Given the description of an element on the screen output the (x, y) to click on. 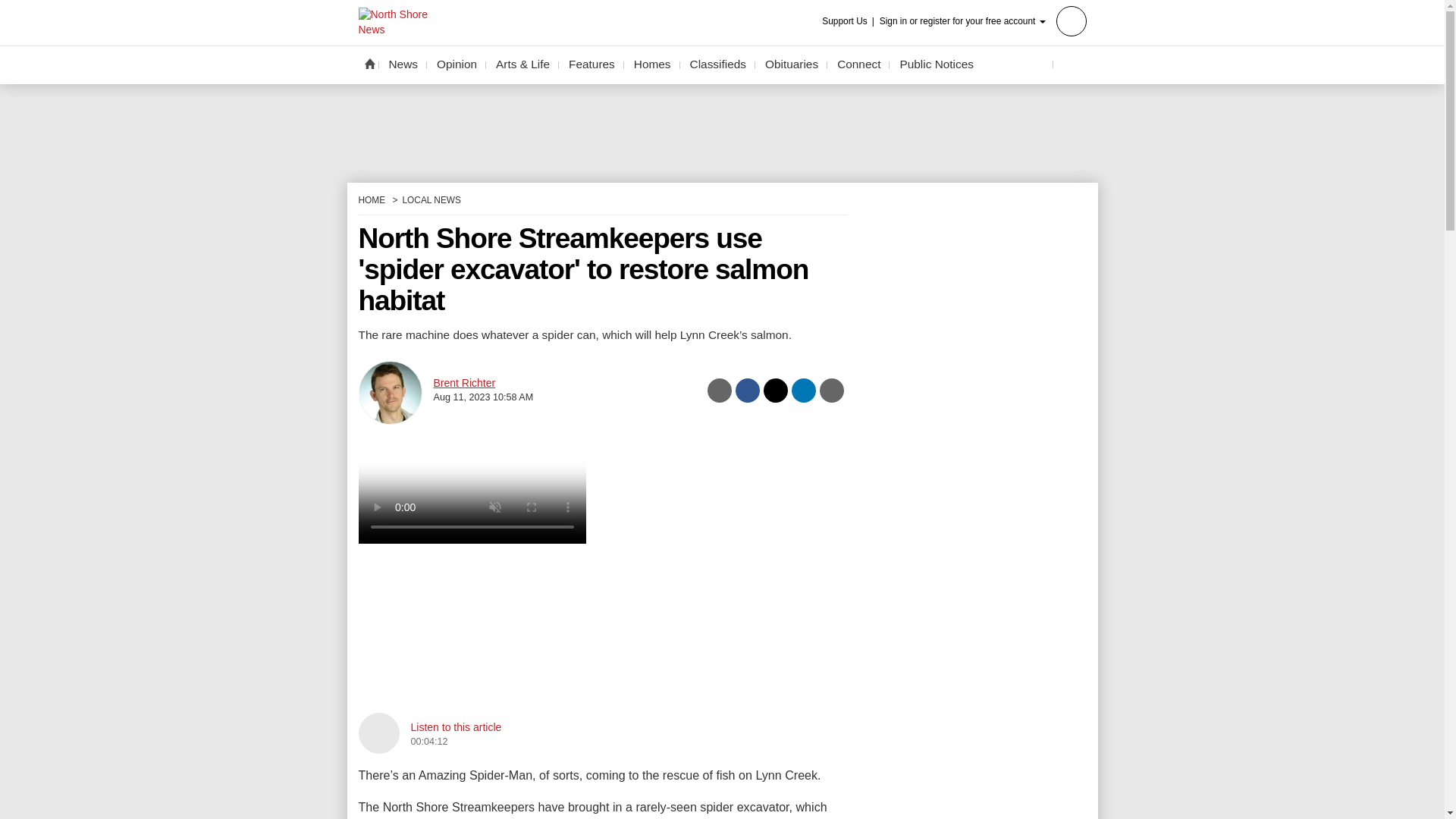
Sign in or register for your free account (982, 20)
Opinion (456, 64)
Support Us (849, 21)
News (403, 64)
Home (368, 63)
